Given the description of an element on the screen output the (x, y) to click on. 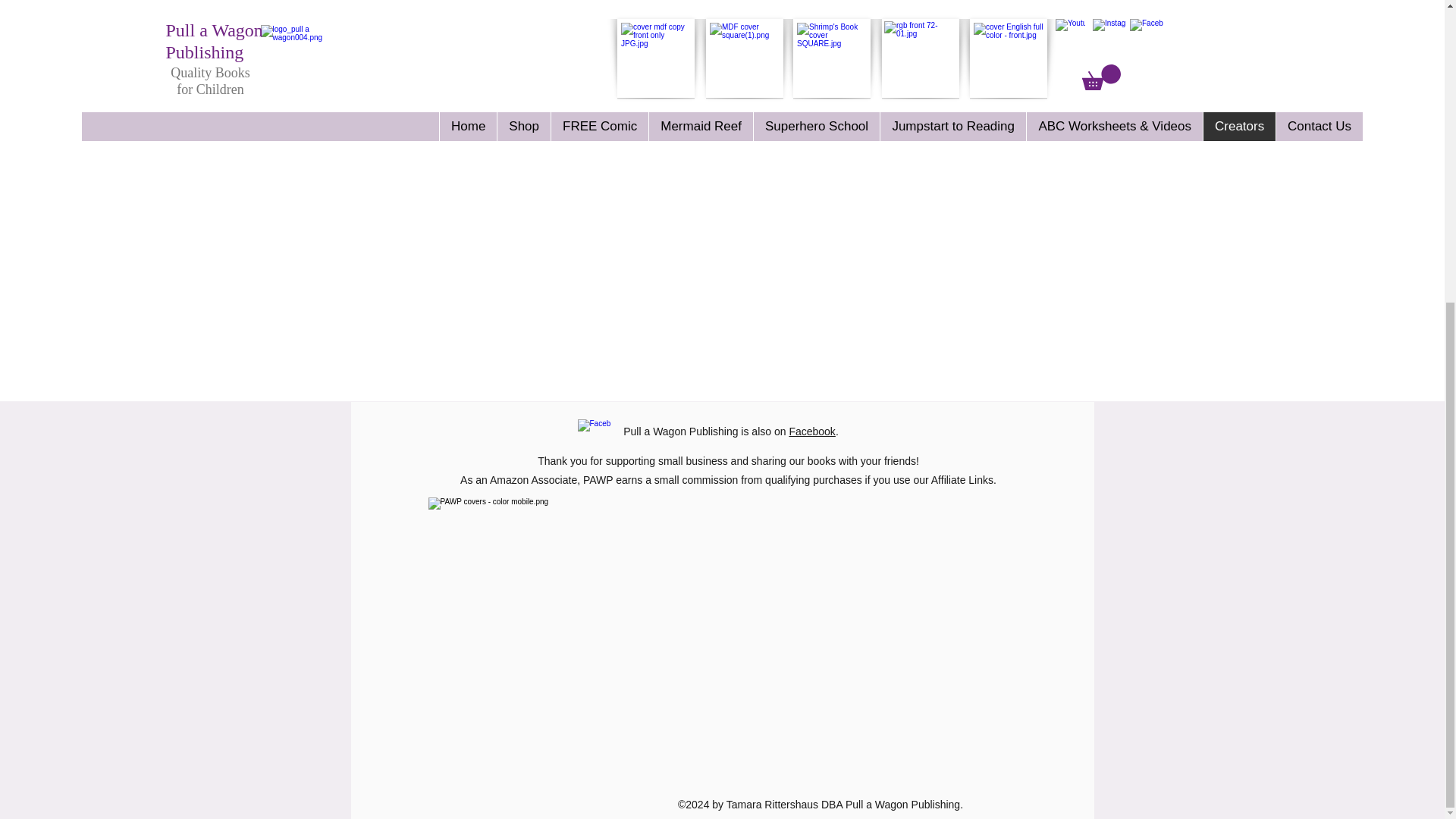
Facebook (811, 431)
